Given the description of an element on the screen output the (x, y) to click on. 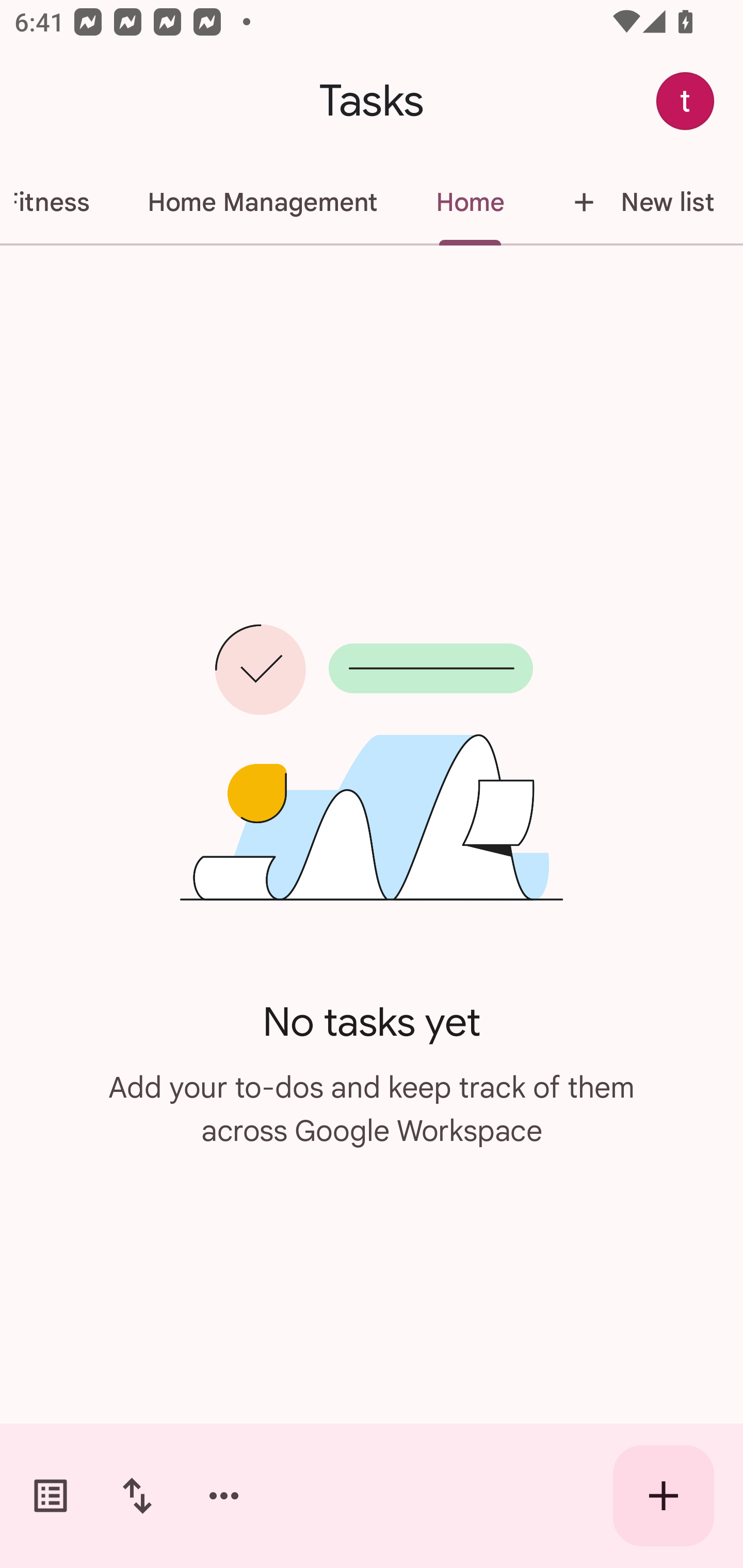
Fitness (59, 202)
Home Management (262, 202)
New list (638, 202)
Switch task lists (50, 1495)
Create new task (663, 1495)
Change sort order (136, 1495)
More options (223, 1495)
